Given the description of an element on the screen output the (x, y) to click on. 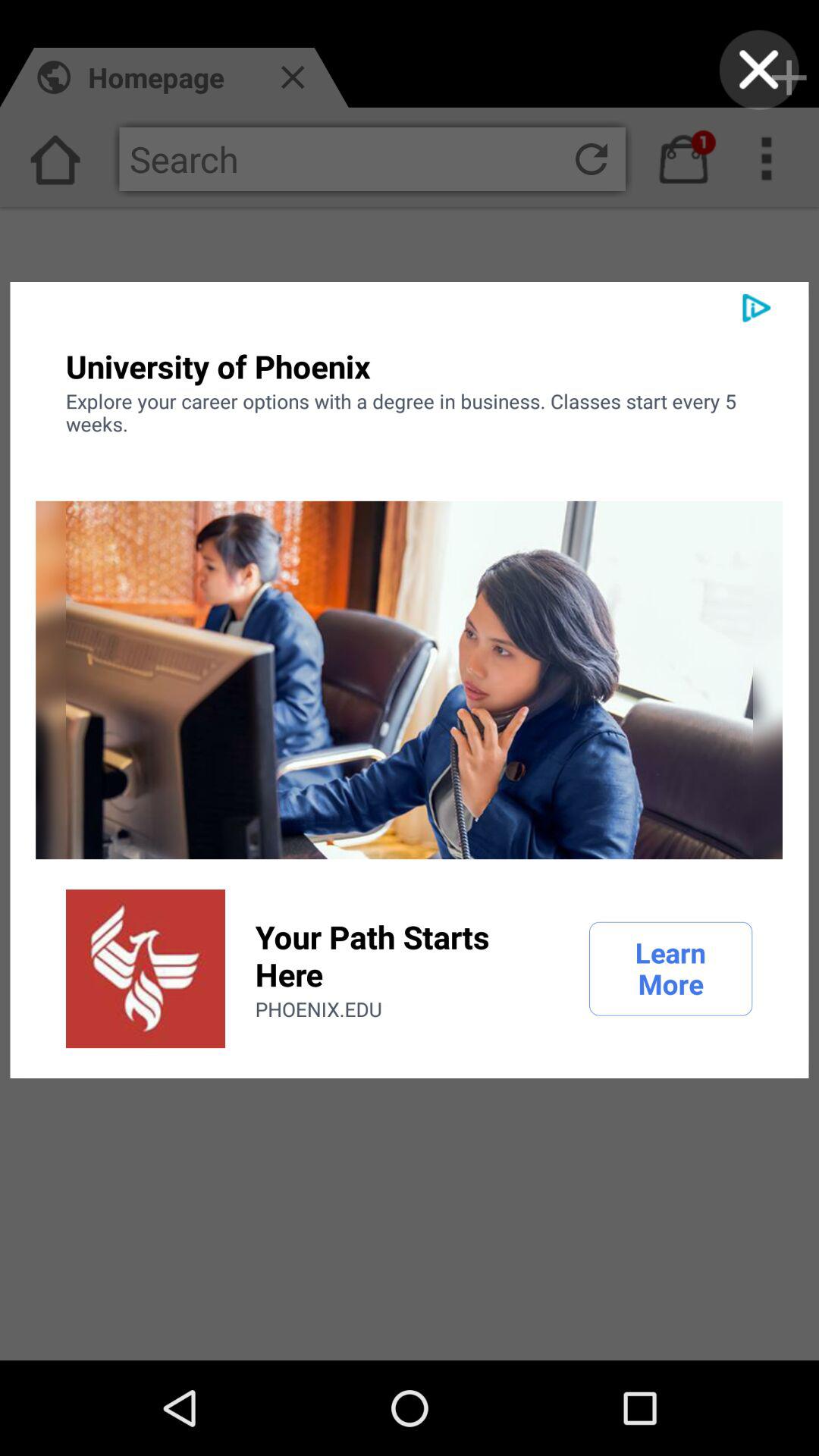
turn on the icon next to the your path starts item (670, 968)
